Given the description of an element on the screen output the (x, y) to click on. 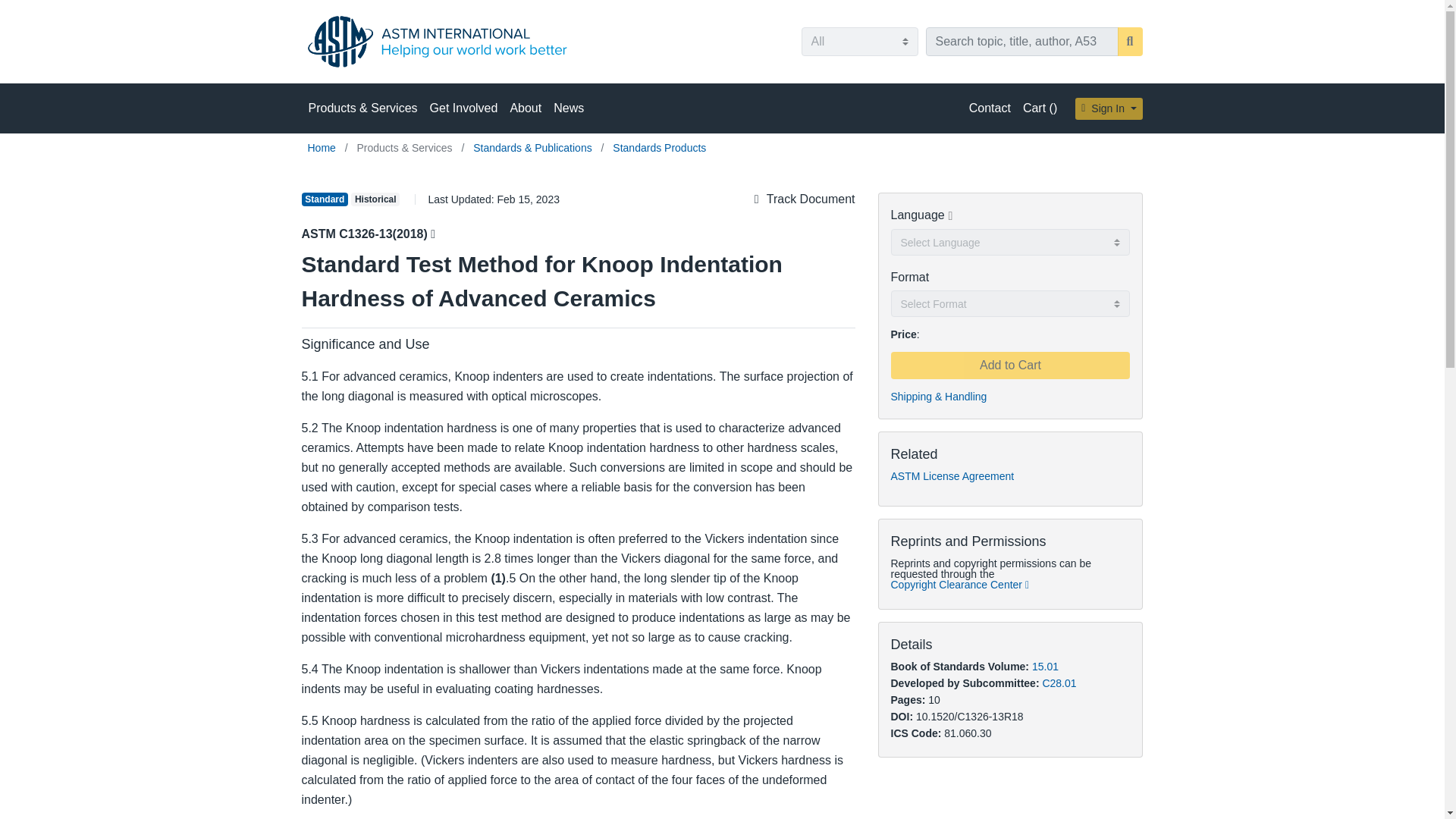
Add to Cart (1009, 365)
Go to Home Page (323, 147)
All (858, 41)
